Given the description of an element on the screen output the (x, y) to click on. 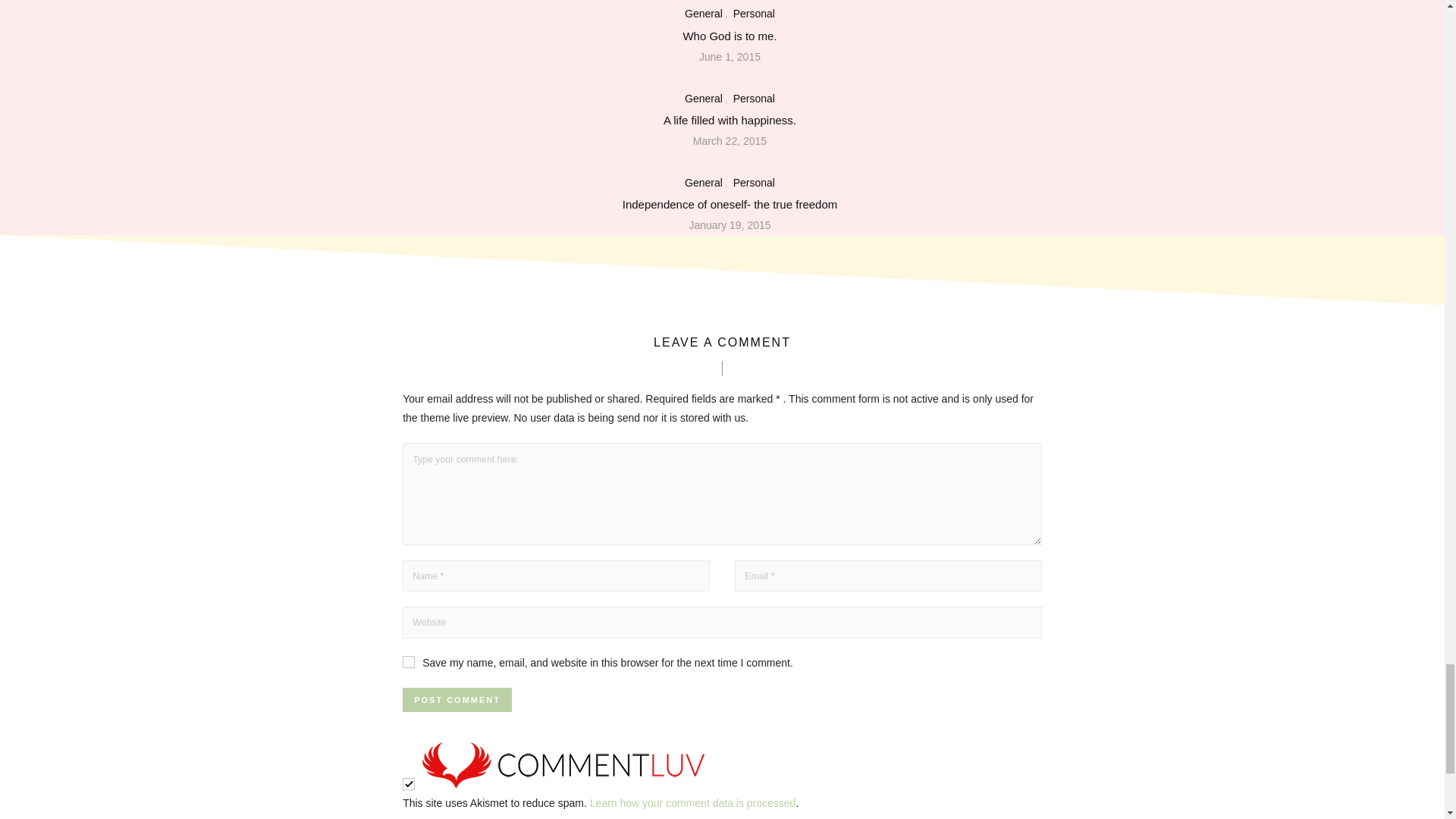
yes (408, 662)
General (703, 13)
Personal (753, 13)
Who God is to me. (730, 35)
on (408, 784)
Personal (753, 98)
Post Comment (457, 699)
General (703, 98)
